Given the description of an element on the screen output the (x, y) to click on. 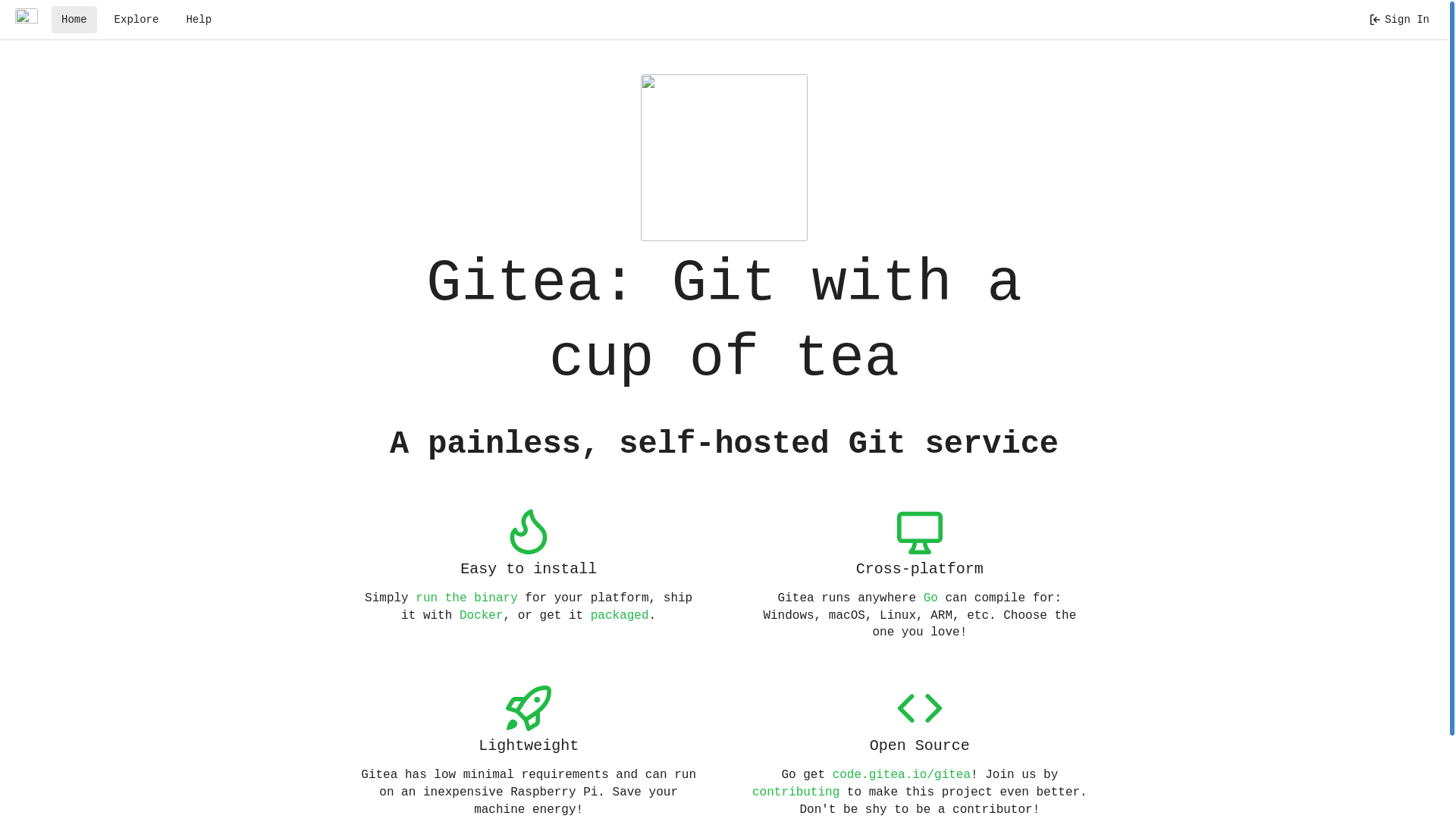
code.gitea.io/gitea Element type: text (901, 774)
Help Element type: text (198, 19)
Go Element type: text (930, 598)
Docker Element type: text (481, 615)
Sign In Element type: text (1398, 19)
Home Element type: text (74, 19)
Explore Element type: text (136, 19)
contributing Element type: text (795, 792)
run the binary Element type: text (466, 598)
packaged Element type: text (619, 615)
